Given the description of an element on the screen output the (x, y) to click on. 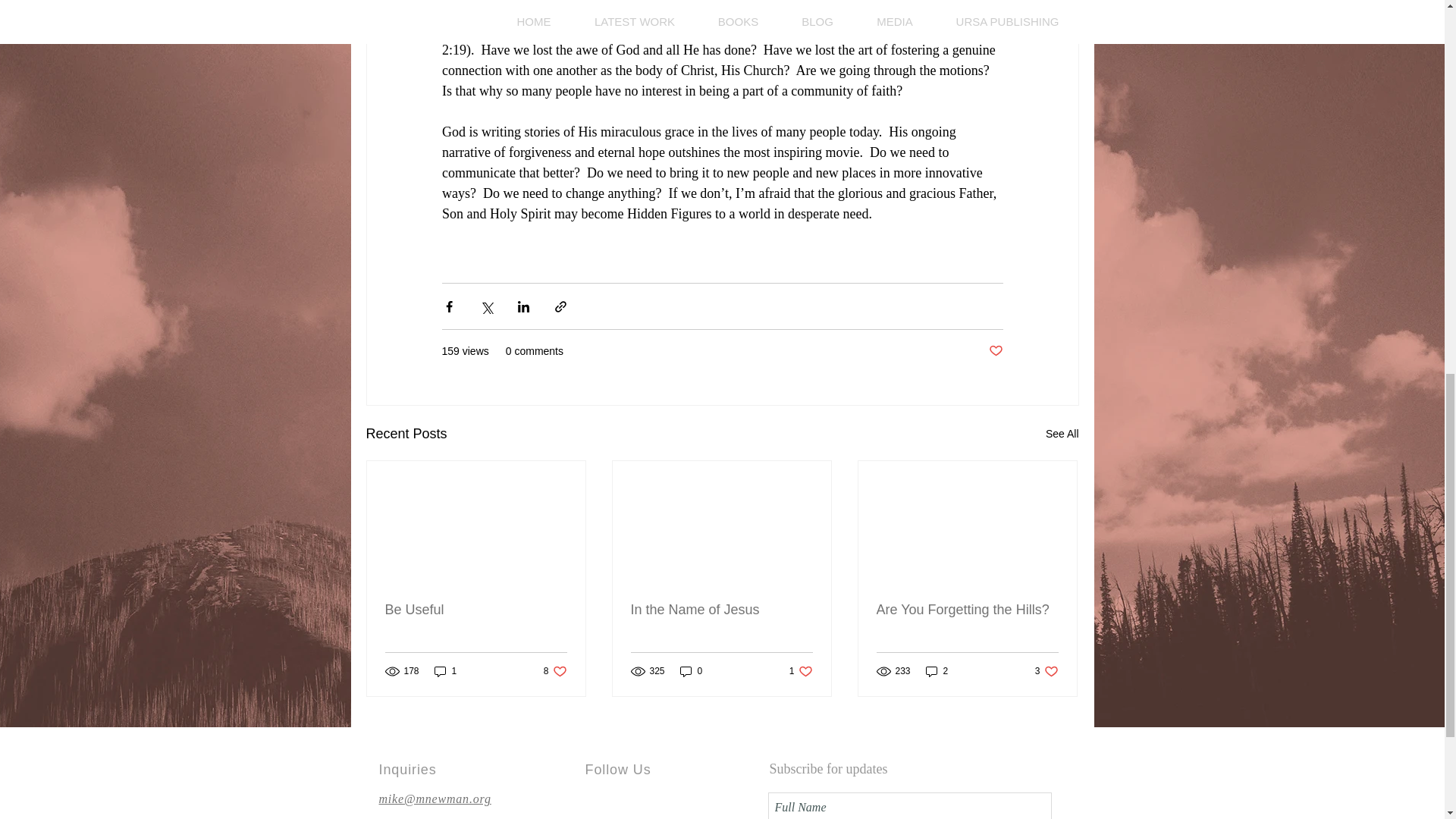
In the Name of Jesus (721, 609)
Post not marked as liked (800, 671)
2 (995, 351)
0 (937, 671)
1 (555, 671)
See All (691, 671)
Be Useful (445, 671)
Are You Forgetting the Hills? (1061, 434)
